Given the description of an element on the screen output the (x, y) to click on. 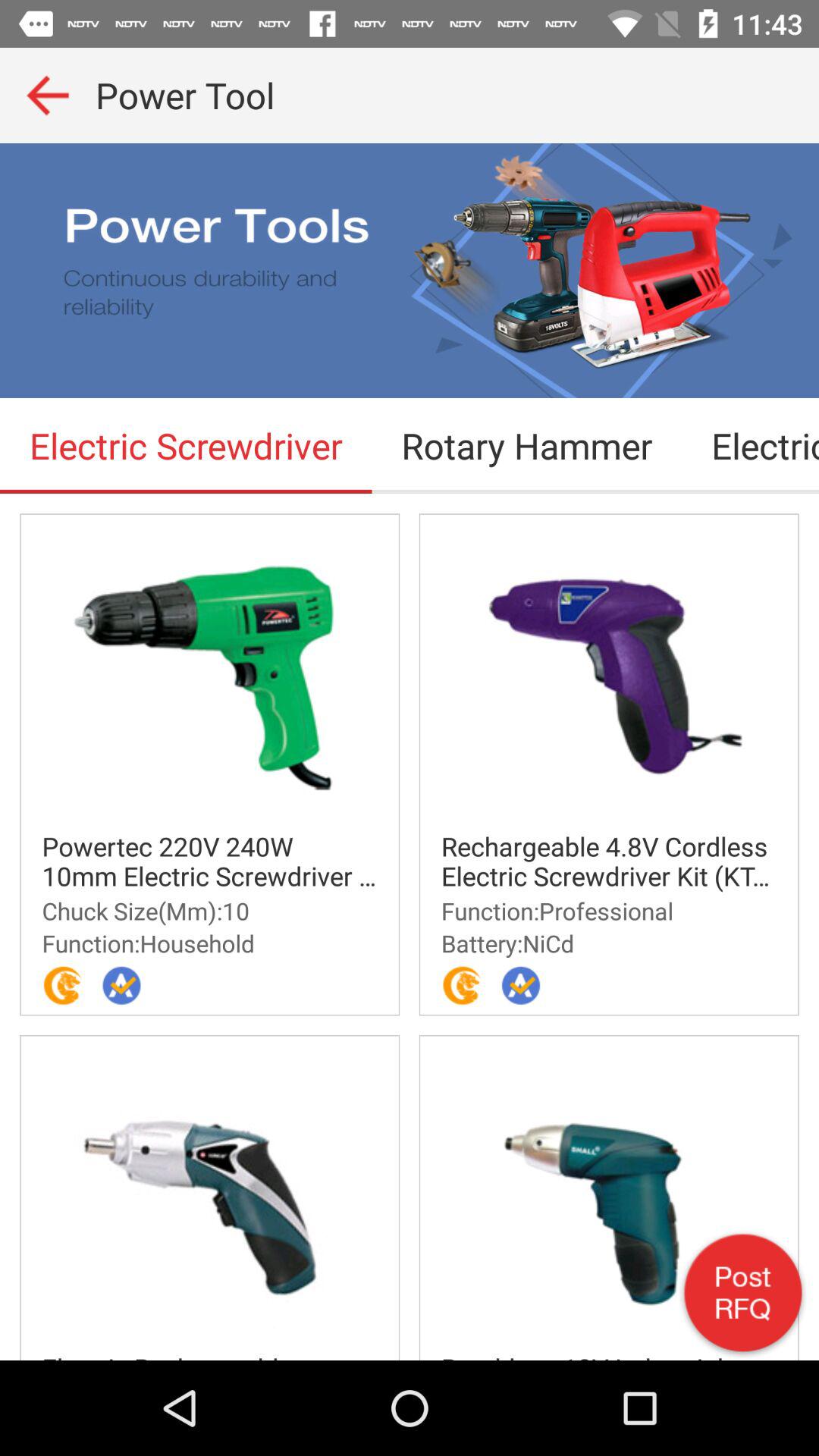
go back (47, 95)
